Given the description of an element on the screen output the (x, y) to click on. 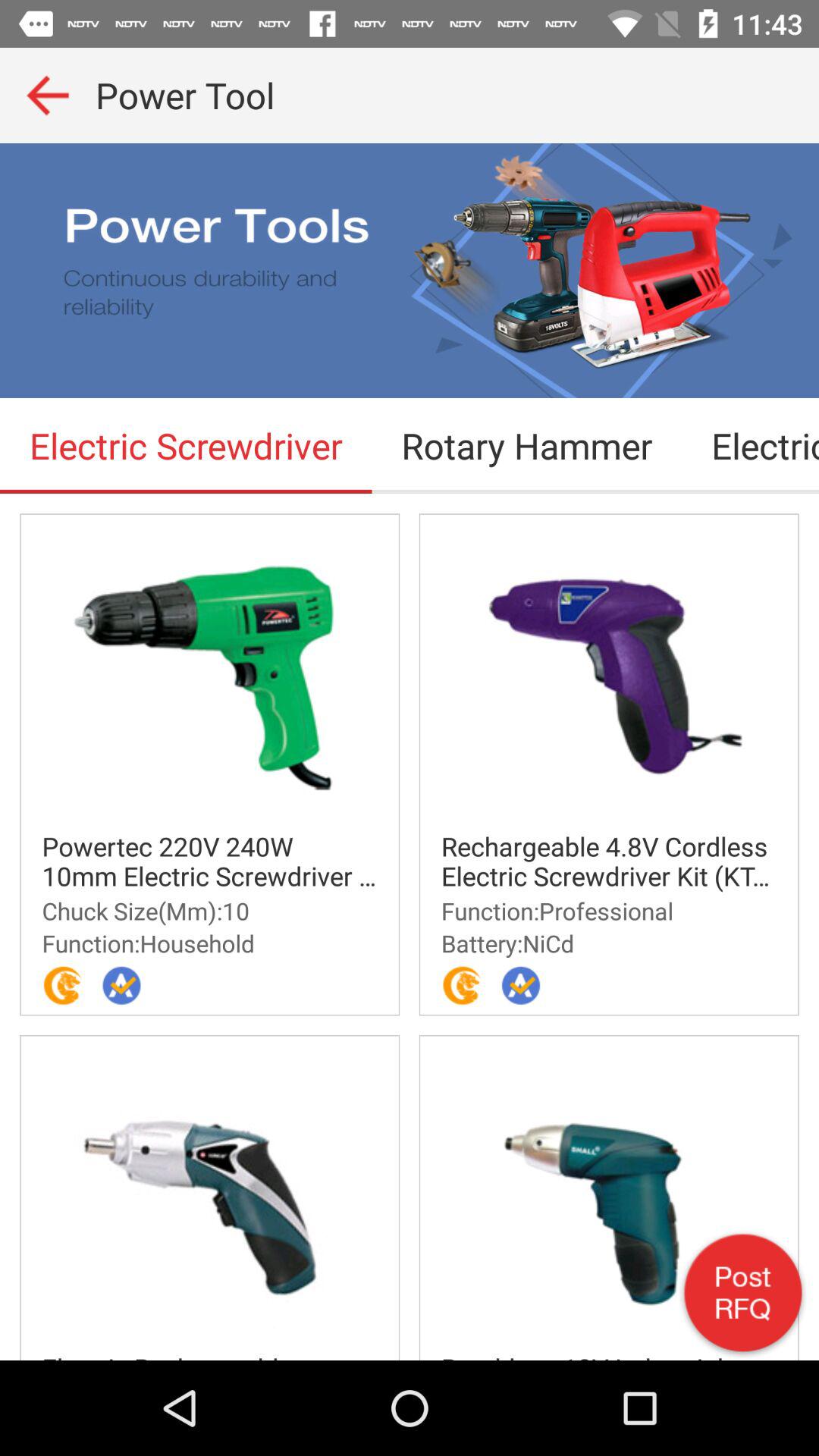
go back (47, 95)
